Given the description of an element on the screen output the (x, y) to click on. 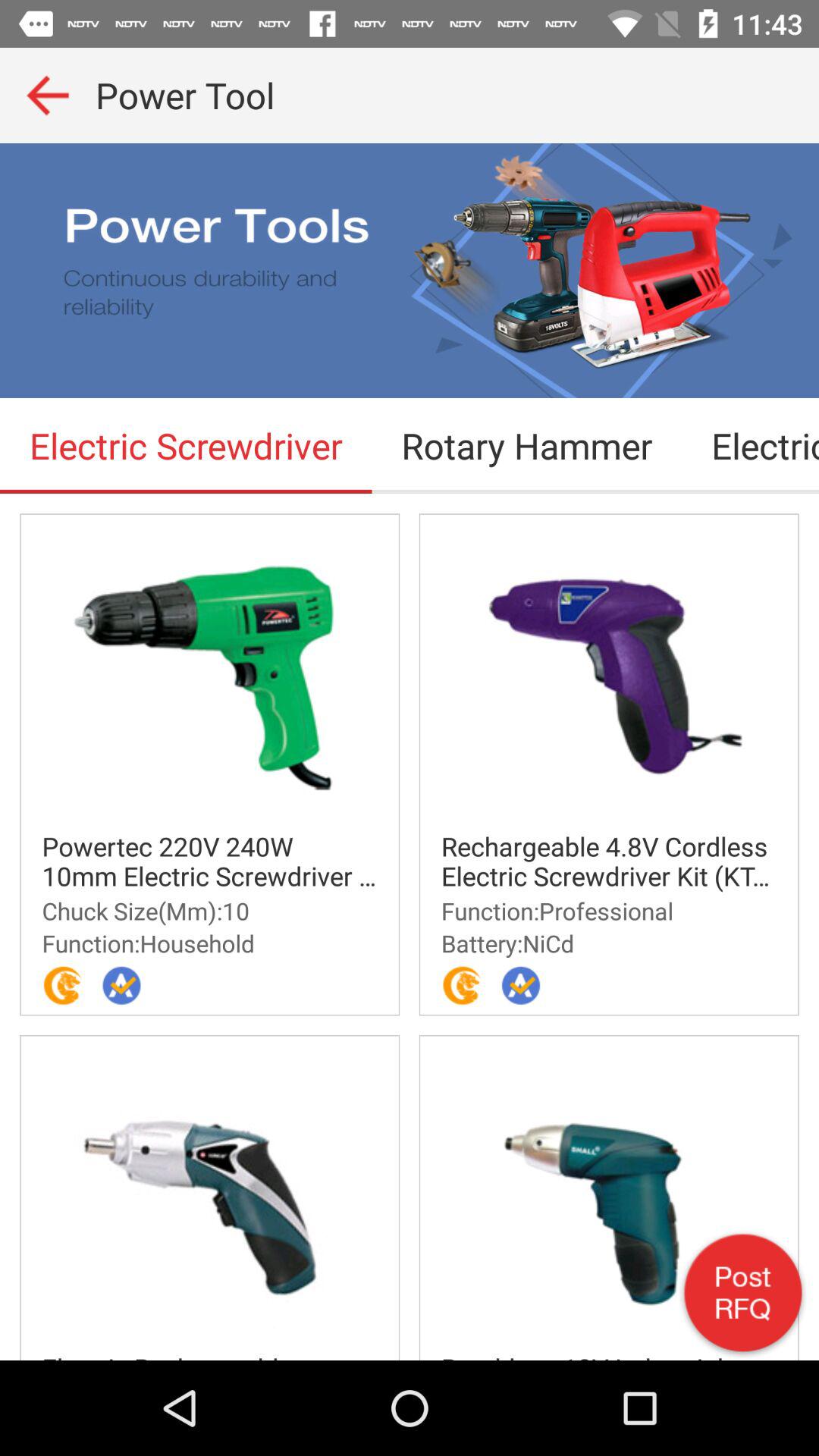
go back (47, 95)
